Given the description of an element on the screen output the (x, y) to click on. 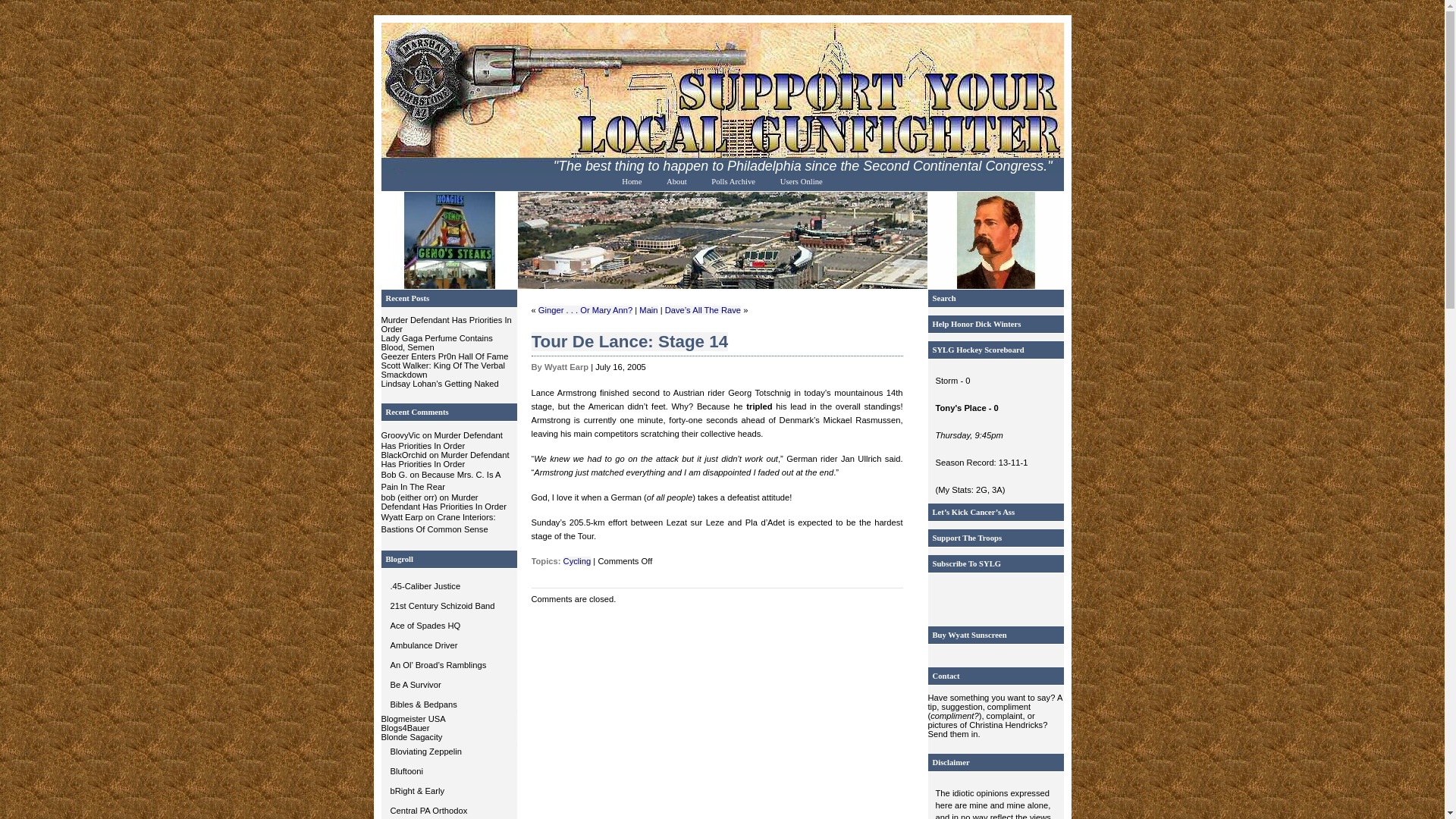
Polls Archive (733, 181)
Wyatt Earp (401, 516)
Oh, The Humanity! (448, 751)
Home (631, 181)
Ambulance Driver (448, 645)
21st Century Schizoid Band (448, 605)
About (676, 181)
Good For What Ails Ya (448, 645)
GroovyVic (399, 434)
Food For The Faithful (448, 809)
Bob G. (393, 474)
Users Online (801, 181)
Crane Interiors: Bastions Of Common Sense (437, 522)
Master Of All Morons (448, 625)
Be Prepared! (448, 684)
